Given the description of an element on the screen output the (x, y) to click on. 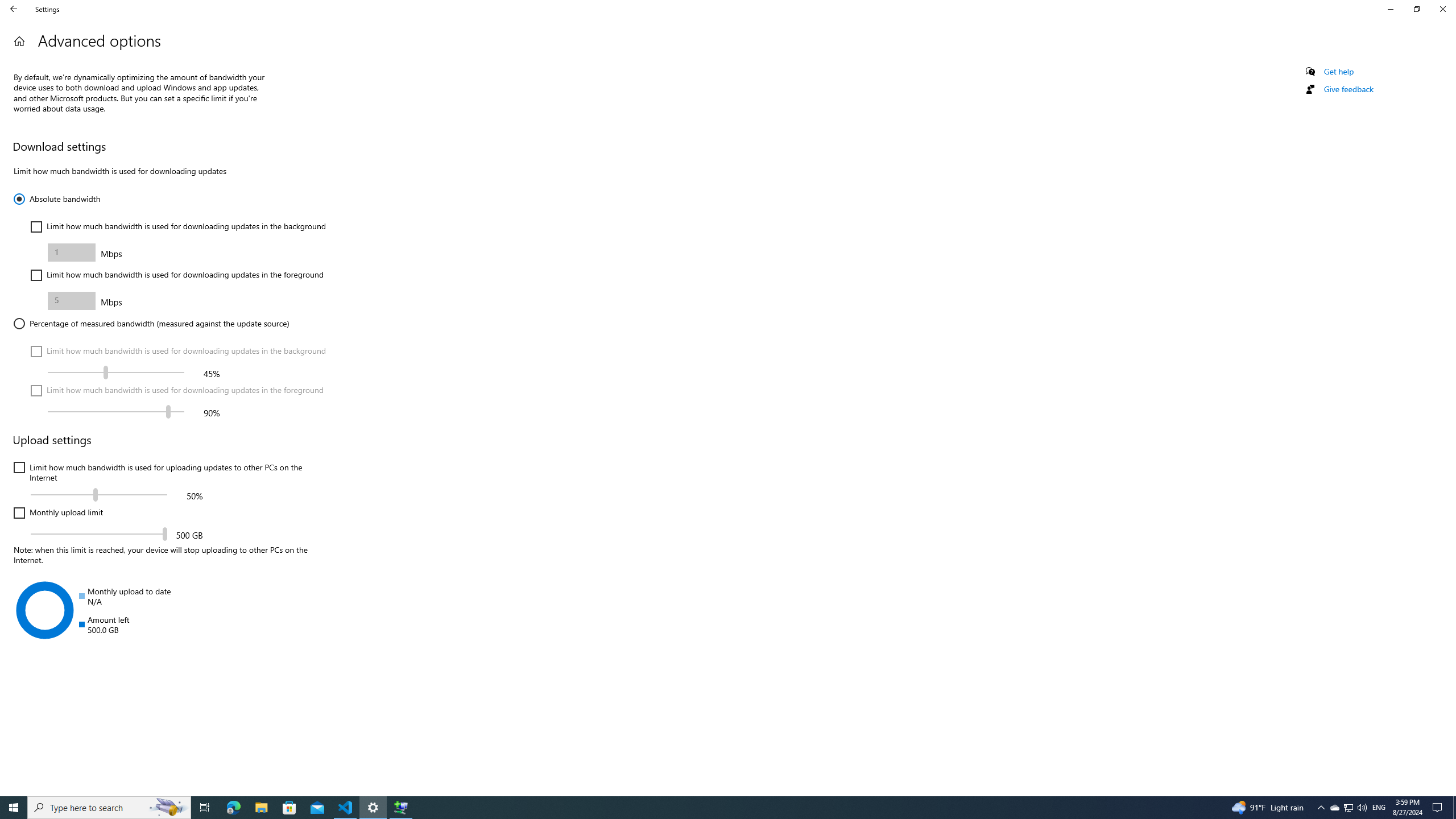
Absolute foreground bandwidth (72, 300)
Monthly upload limit (98, 533)
